Given the description of an element on the screen output the (x, y) to click on. 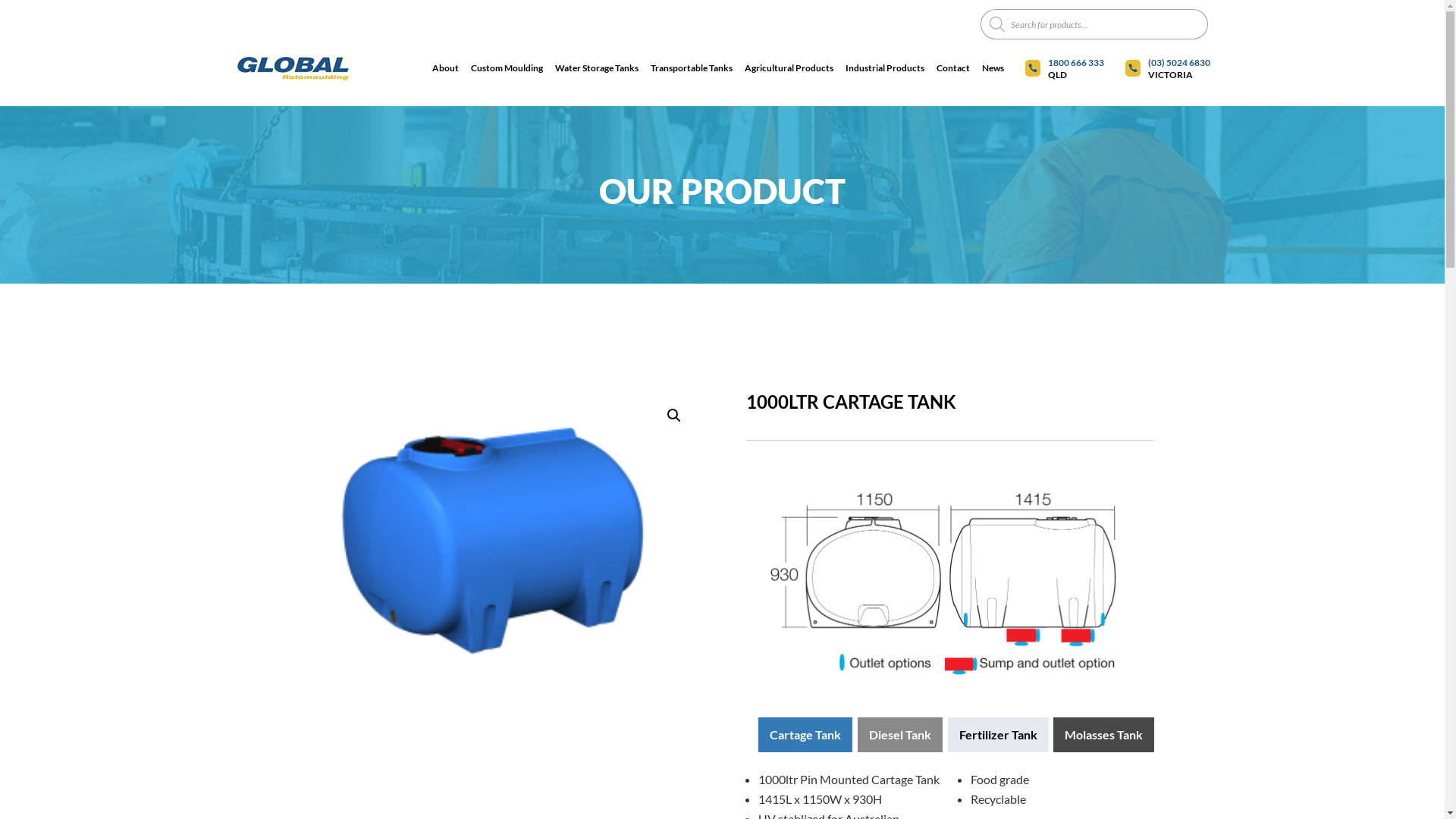
(03) 5024 6830 Element type: text (1179, 62)
Custom Moulding Element type: text (506, 68)
Transportable Tanks Element type: text (691, 68)
Contact Element type: text (952, 68)
Agricultural Products Element type: text (788, 68)
1800 666 333 Element type: text (1076, 62)
GR-G1000-GR-G1000S-GR-G1000D-GR-G1000DS-pic-220x150 Element type: hover (494, 539)
Water Storage Tanks Element type: text (596, 68)
News Element type: text (992, 68)
About Element type: text (445, 68)
Industrial Products Element type: text (883, 68)
